Given the description of an element on the screen output the (x, y) to click on. 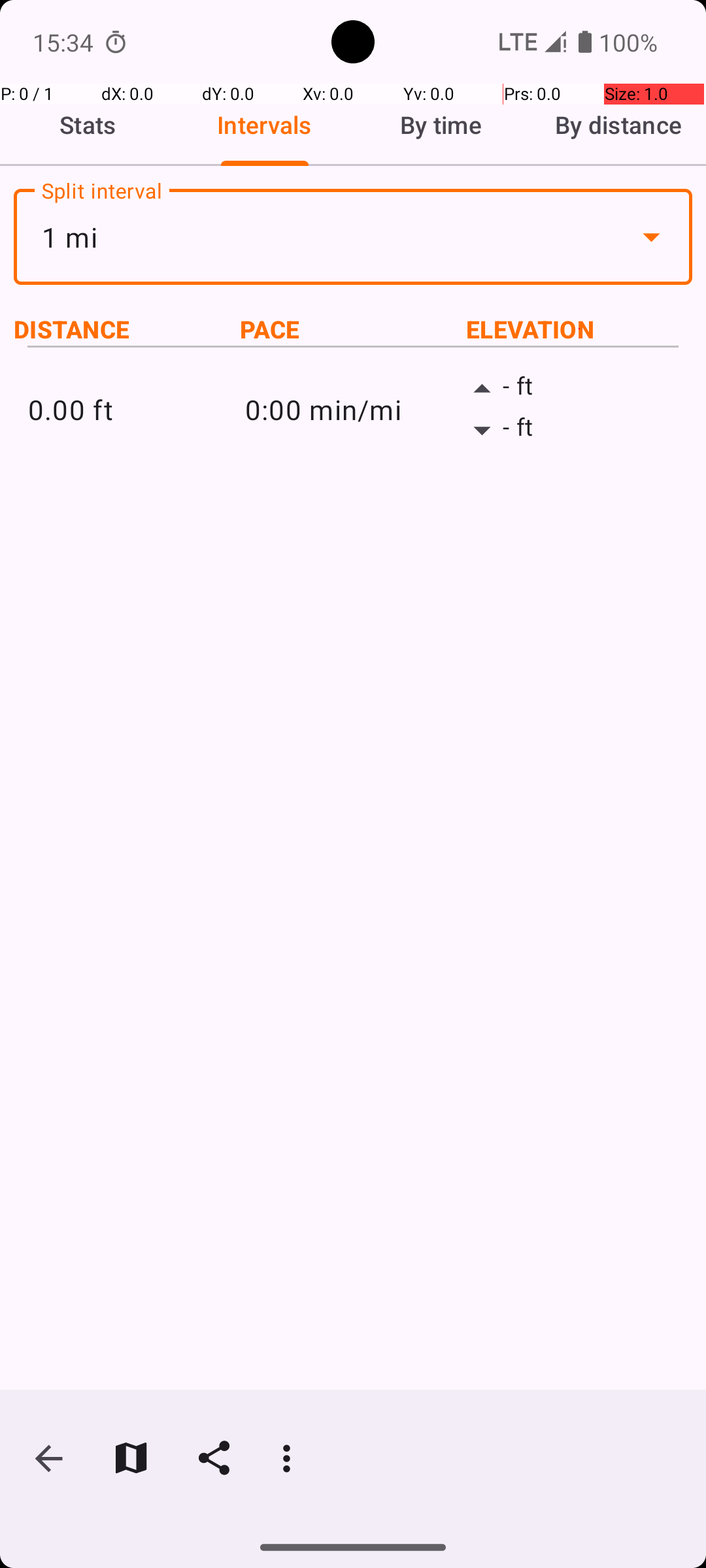
PACE Element type: android.widget.TextView (352, 328)
0:00 min/mi Element type: android.widget.TextView (352, 408)
